Given the description of an element on the screen output the (x, y) to click on. 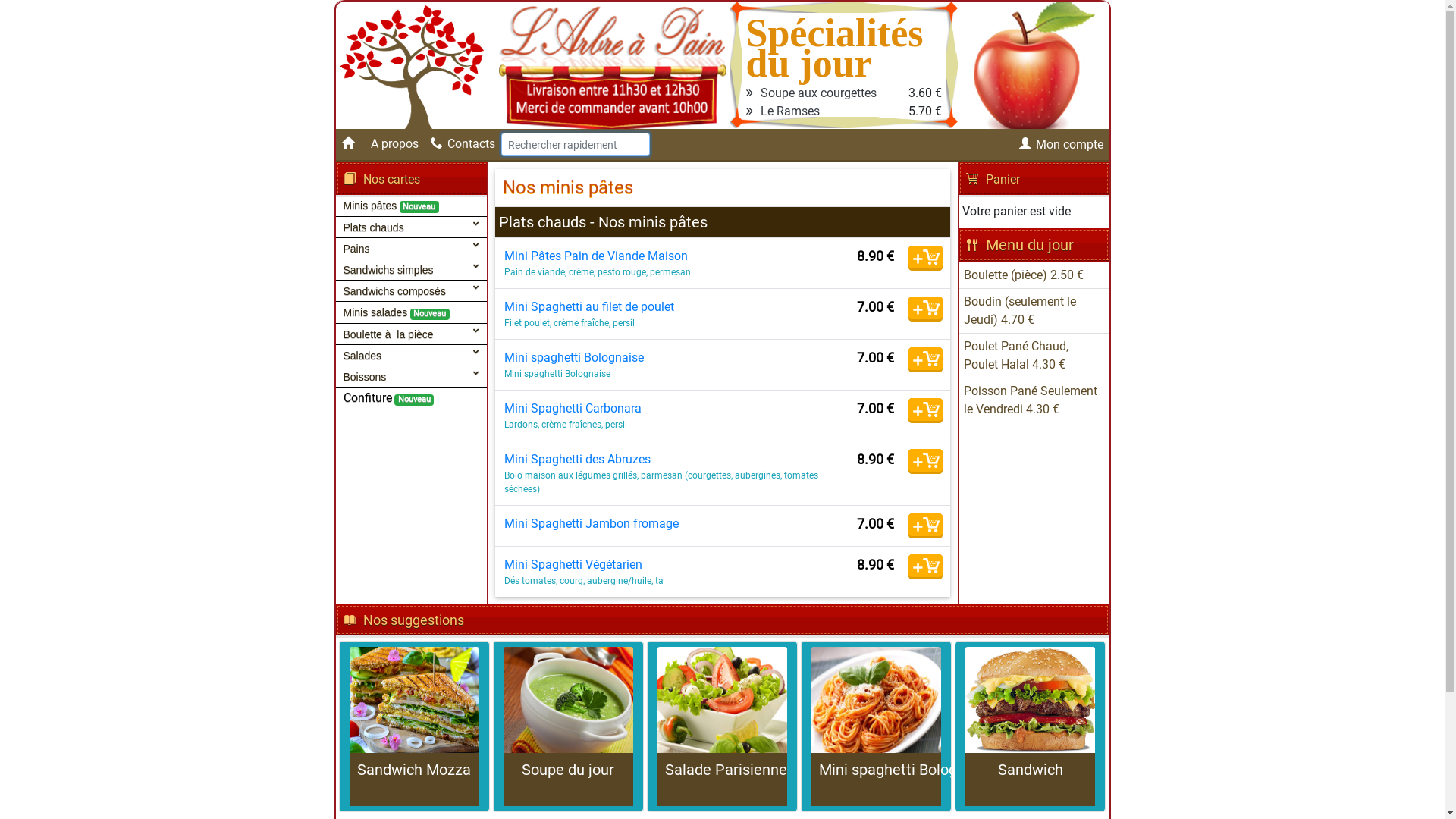
Mini Spaghetti des Abruzes Element type: text (576, 458)
A propos Element type: text (393, 143)
Mini Spaghetti Carbonara Element type: text (571, 408)
Nos cartes Element type: text (380, 179)
Mon compte Element type: text (1061, 143)
Contacts Element type: text (462, 143)
Mini spaghetti Bolognaise Element type: text (573, 357)
Mini Spaghetti au filet de poulet Element type: text (588, 306)
Panier Element type: text (992, 179)
Salade Parisienne Element type: text (722, 726)
Sandwich Mozza Element type: text (414, 726)
Le Ramses Element type: text (789, 110)
Mini Spaghetti Jambon fromage Element type: text (590, 523)
Mini spaghetti Bolognaise Element type: text (875, 726)
Soupe aux courgettes Element type: text (817, 92)
Sandwich Element type: text (1029, 726)
Soupe du jour Element type: text (568, 726)
Confiture Element type: text (366, 397)
